Given the description of an element on the screen output the (x, y) to click on. 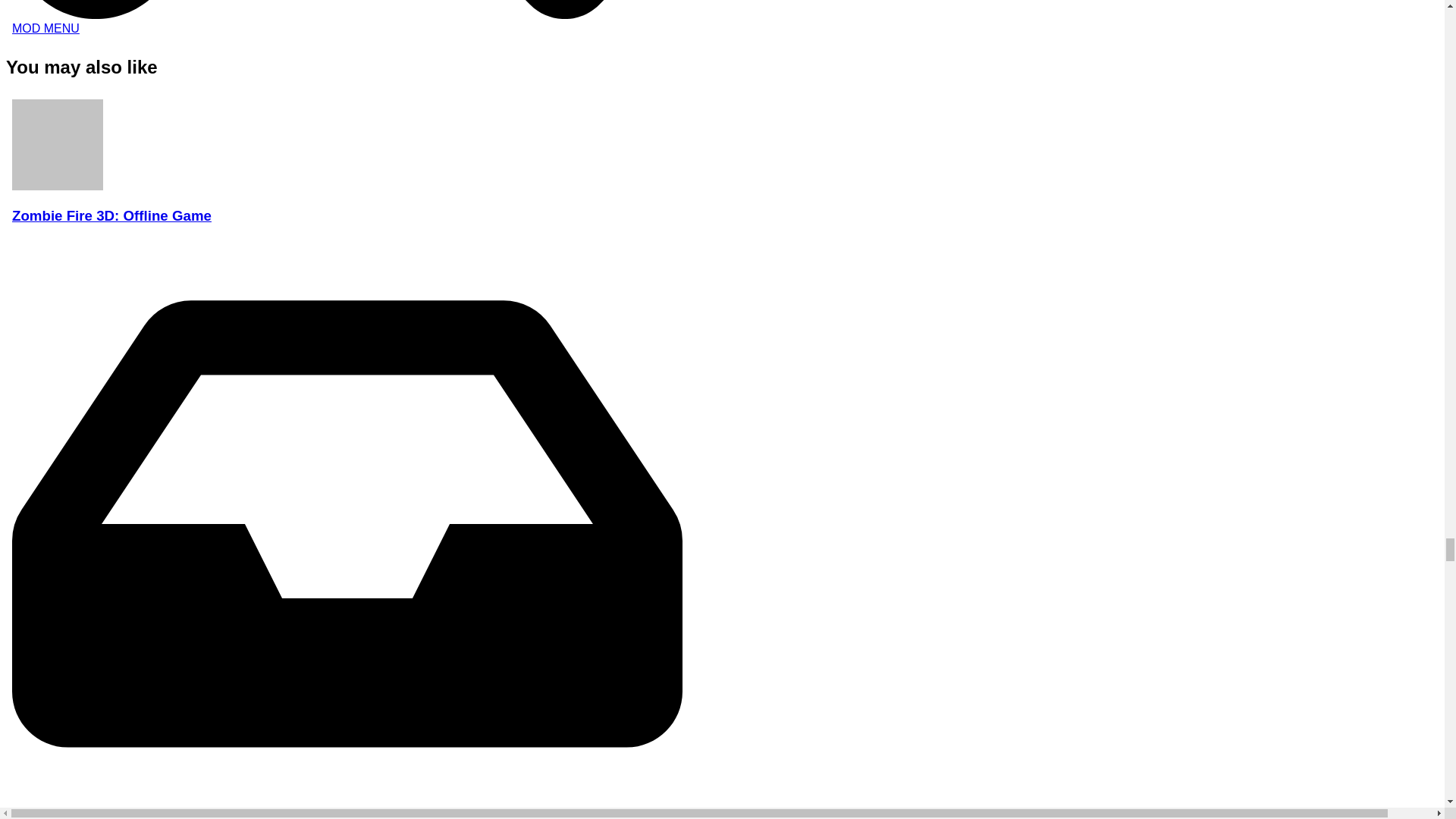
Roblox (346, 20)
